Given the description of an element on the screen output the (x, y) to click on. 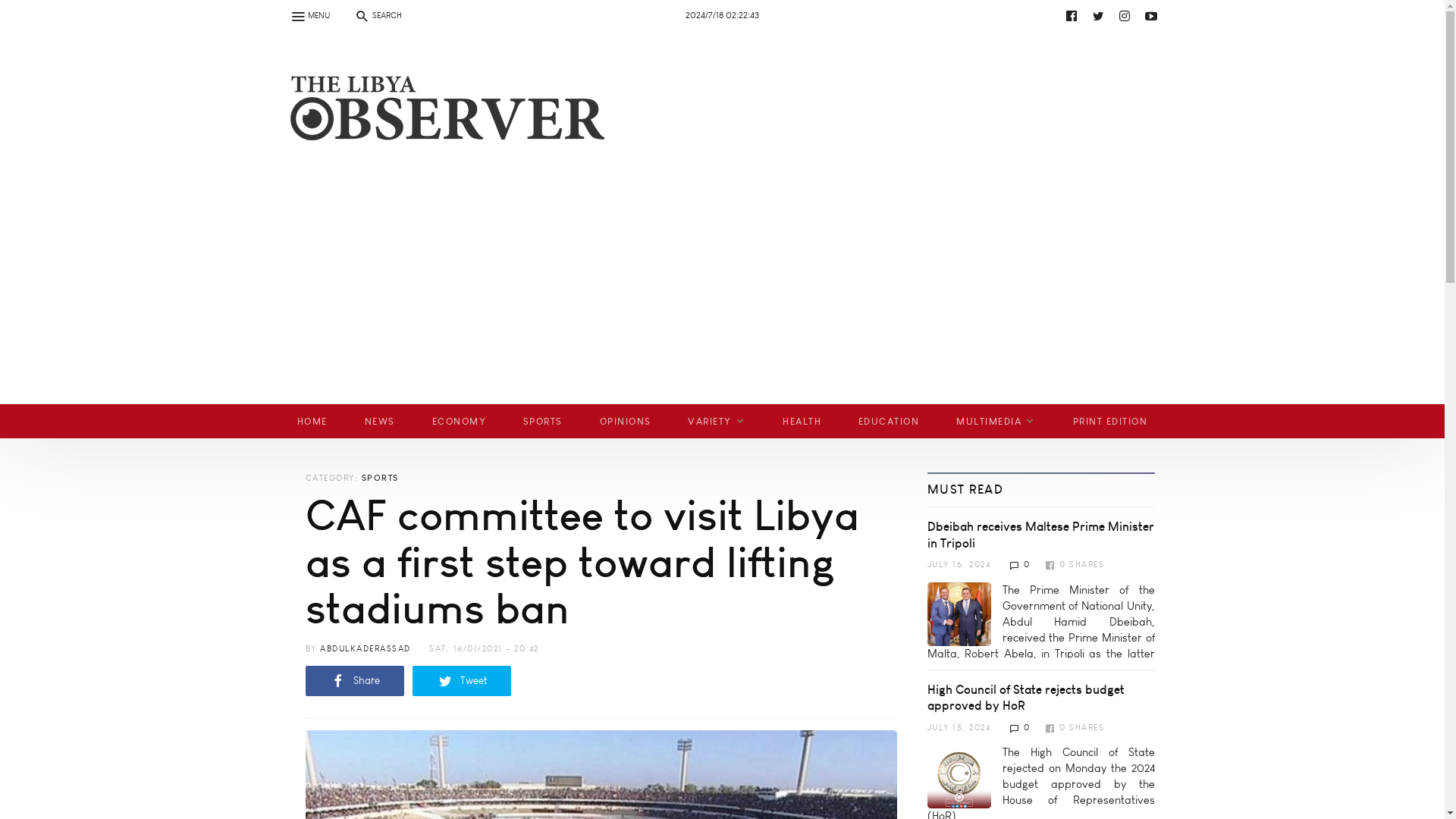
MULTIMEDIA (995, 421)
HOME (312, 421)
HEALTH (802, 421)
youtube (736, 14)
youtube (1150, 14)
SPORTS (541, 421)
twitter (1097, 14)
VARIETY (716, 421)
SEARCH (377, 15)
MENU (309, 15)
OPINIONS (624, 421)
Search (20, 9)
Home (441, 126)
Facebook (1070, 14)
